Given the description of an element on the screen output the (x, y) to click on. 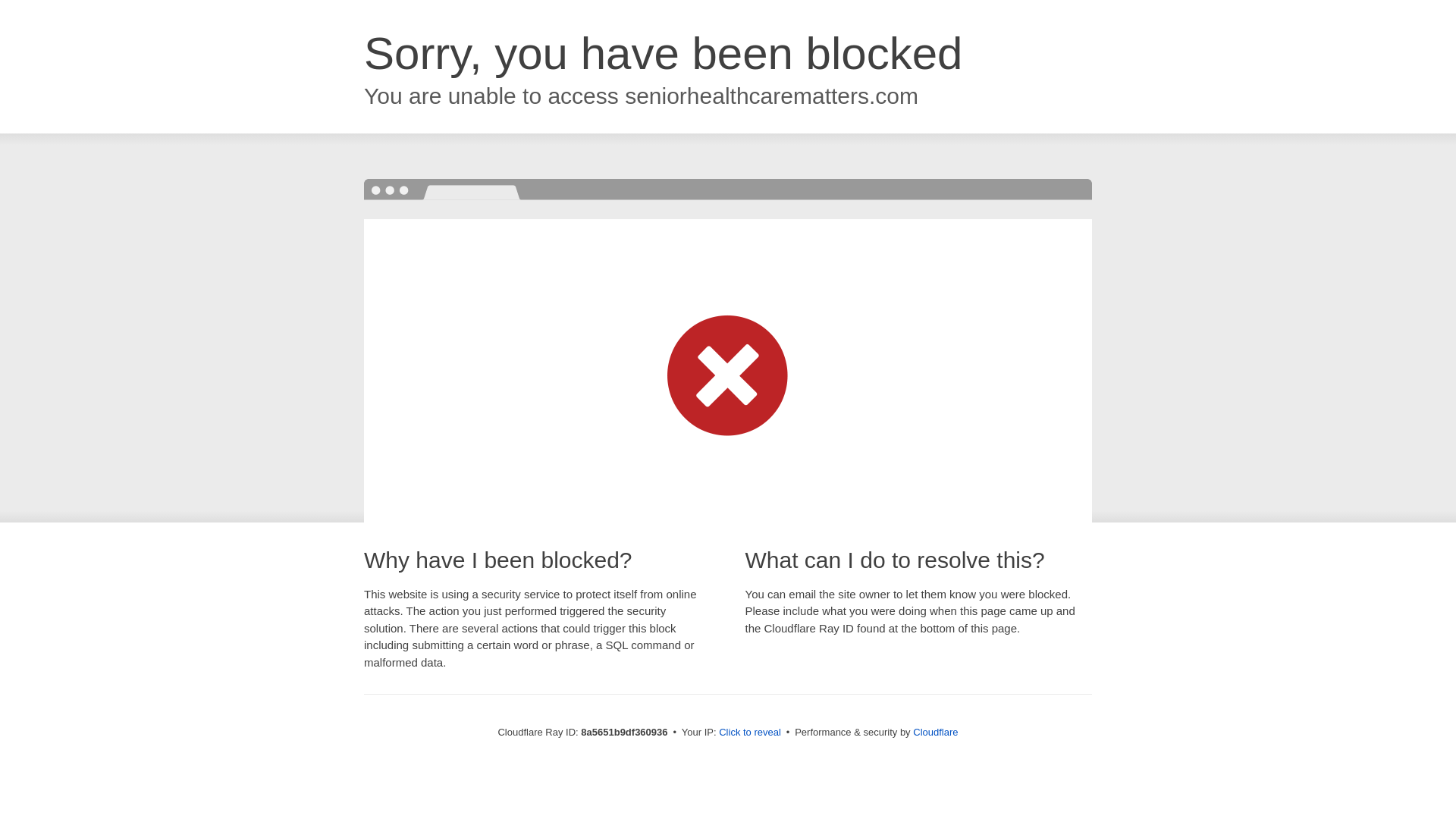
Click to reveal (749, 732)
Cloudflare (935, 731)
